Given the description of an element on the screen output the (x, y) to click on. 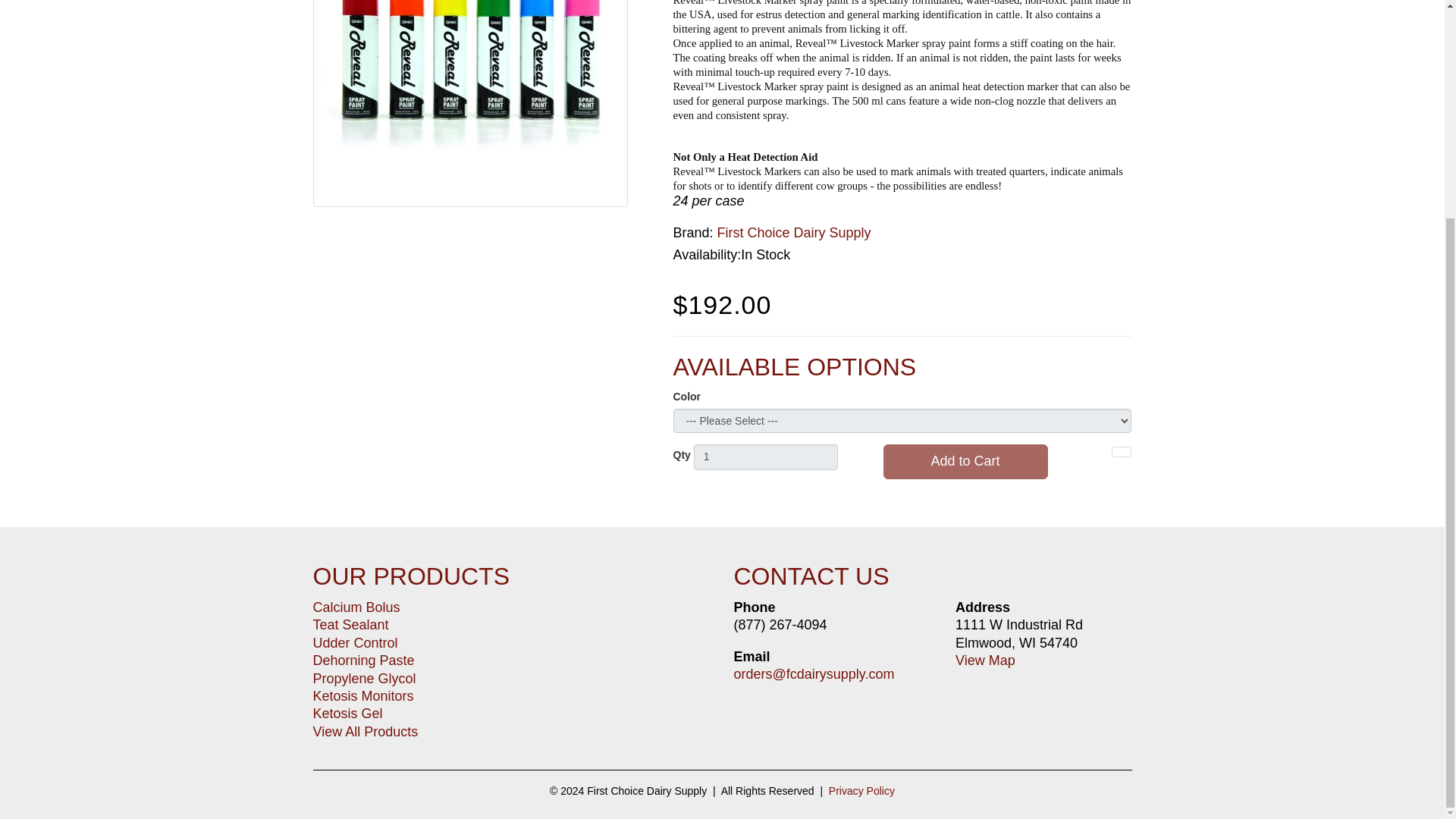
Teat Sealant (350, 624)
Dehorning Paste (363, 660)
Ketosis Monitors (363, 695)
Calcium Bolus (355, 607)
Reveal Livestock Spray Paint (470, 101)
First Choice Dairy Supply (793, 232)
Propylene Glycol (363, 678)
View Map (984, 660)
Ketosis Gel (347, 713)
Reveal Livestock Spray Paint (470, 103)
